Given the description of an element on the screen output the (x, y) to click on. 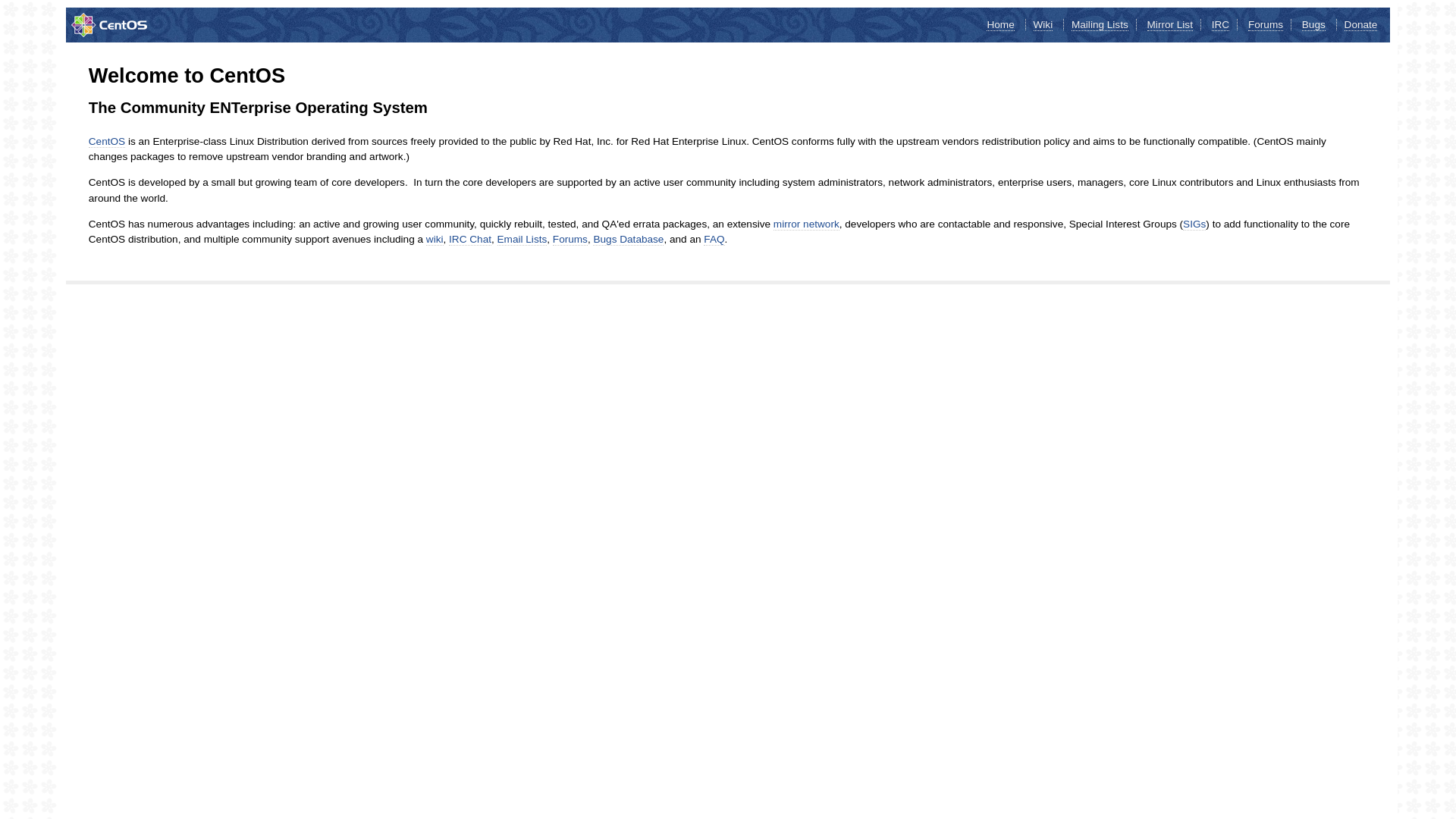
Home Element type: text (999, 24)
FAQ Element type: text (713, 239)
Donate Element type: text (1360, 24)
Bugs Element type: text (1313, 24)
Forums Element type: text (569, 239)
Wiki Element type: text (1042, 24)
Mailing Lists Element type: text (1099, 24)
Mirror List Element type: text (1169, 24)
Forums Element type: text (1265, 24)
Email Lists Element type: text (522, 239)
IRC Chat Element type: text (469, 239)
Bugs Database Element type: text (628, 239)
mirror network Element type: text (806, 224)
SIGs Element type: text (1194, 224)
IRC Element type: text (1220, 24)
CentOS Element type: text (106, 141)
wiki Element type: text (434, 239)
